Given the description of an element on the screen output the (x, y) to click on. 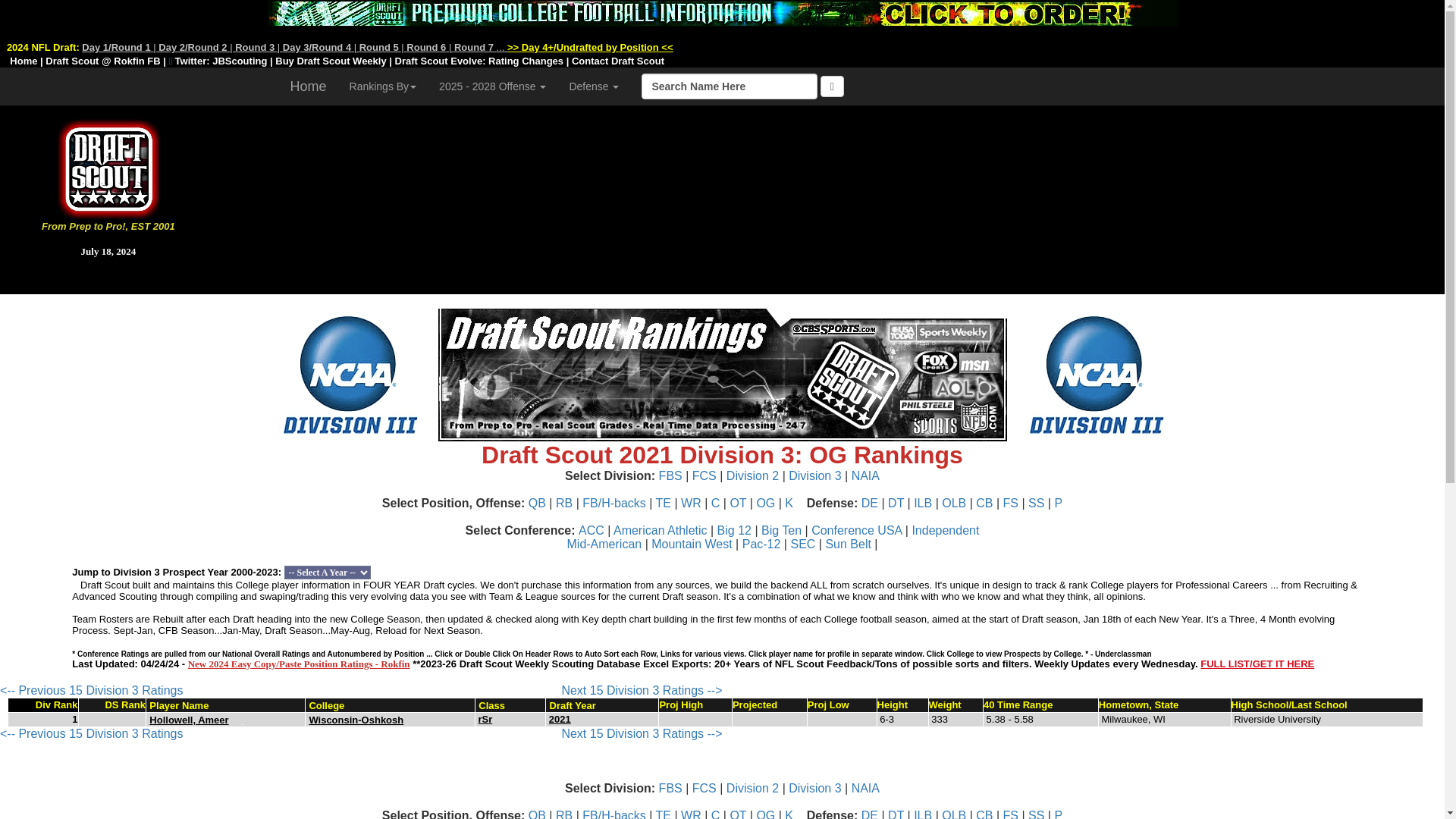
2024 NFL Draft Round Four (316, 47)
JBS Scouting Twitter (217, 61)
Draft Scout Home Page (22, 60)
Round 5 (378, 47)
2025 - 2028 Offense (492, 86)
Twitter: JBScouting (217, 61)
2024 NFL Draft Round Six (425, 47)
Draft Scout at Rokfin Football (102, 60)
Contact Us (617, 60)
Round 6 (425, 47)
Undrafted by Position (589, 47)
Home (22, 60)
Rankings By Conference-Division (382, 86)
Draft Scout Evolve: Rating Changes (478, 60)
